Given the description of an element on the screen output the (x, y) to click on. 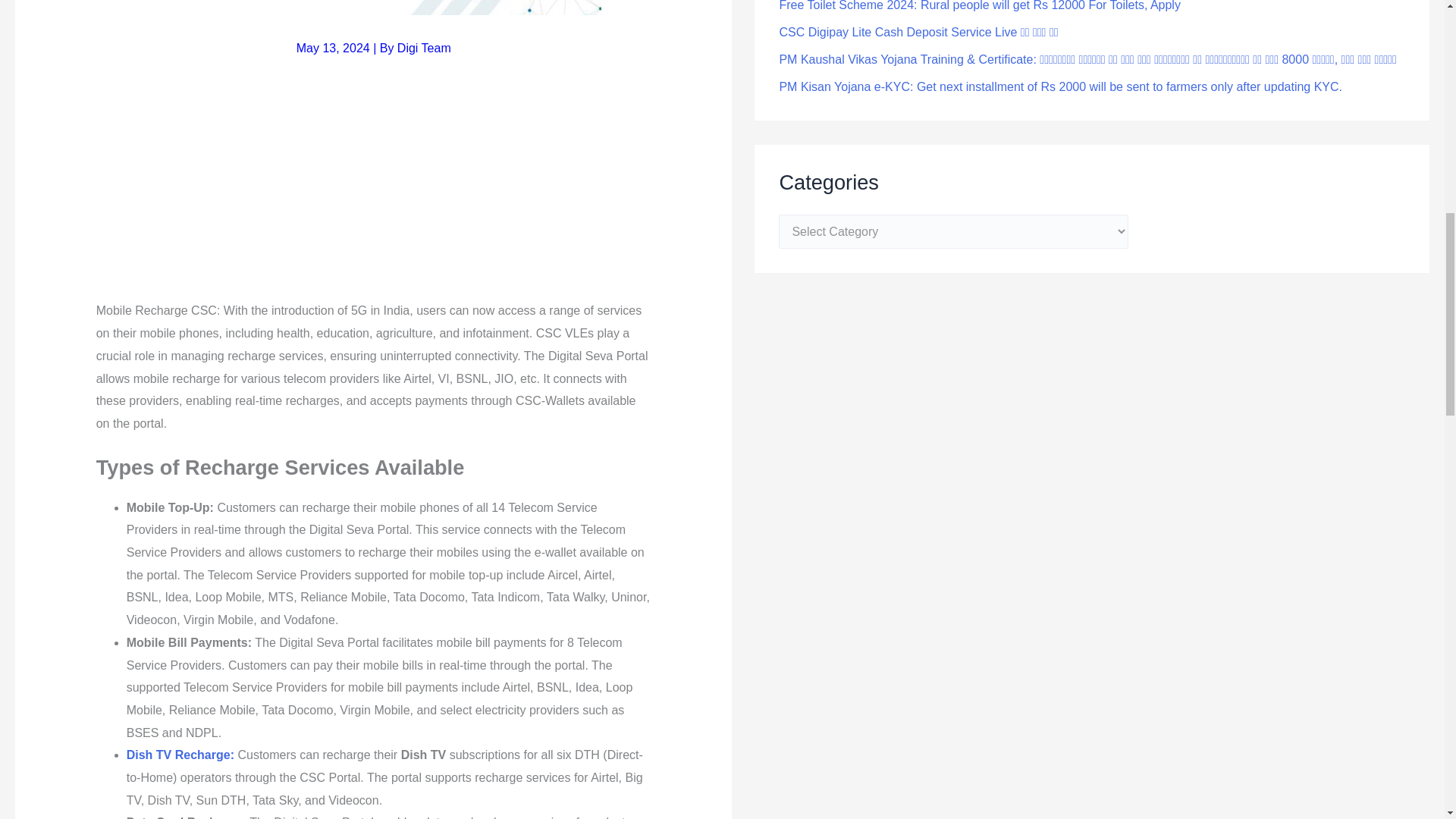
Dish TV Recharge: (180, 754)
View all posts by Digi Team (424, 47)
Digi Team (424, 47)
